Given the description of an element on the screen output the (x, y) to click on. 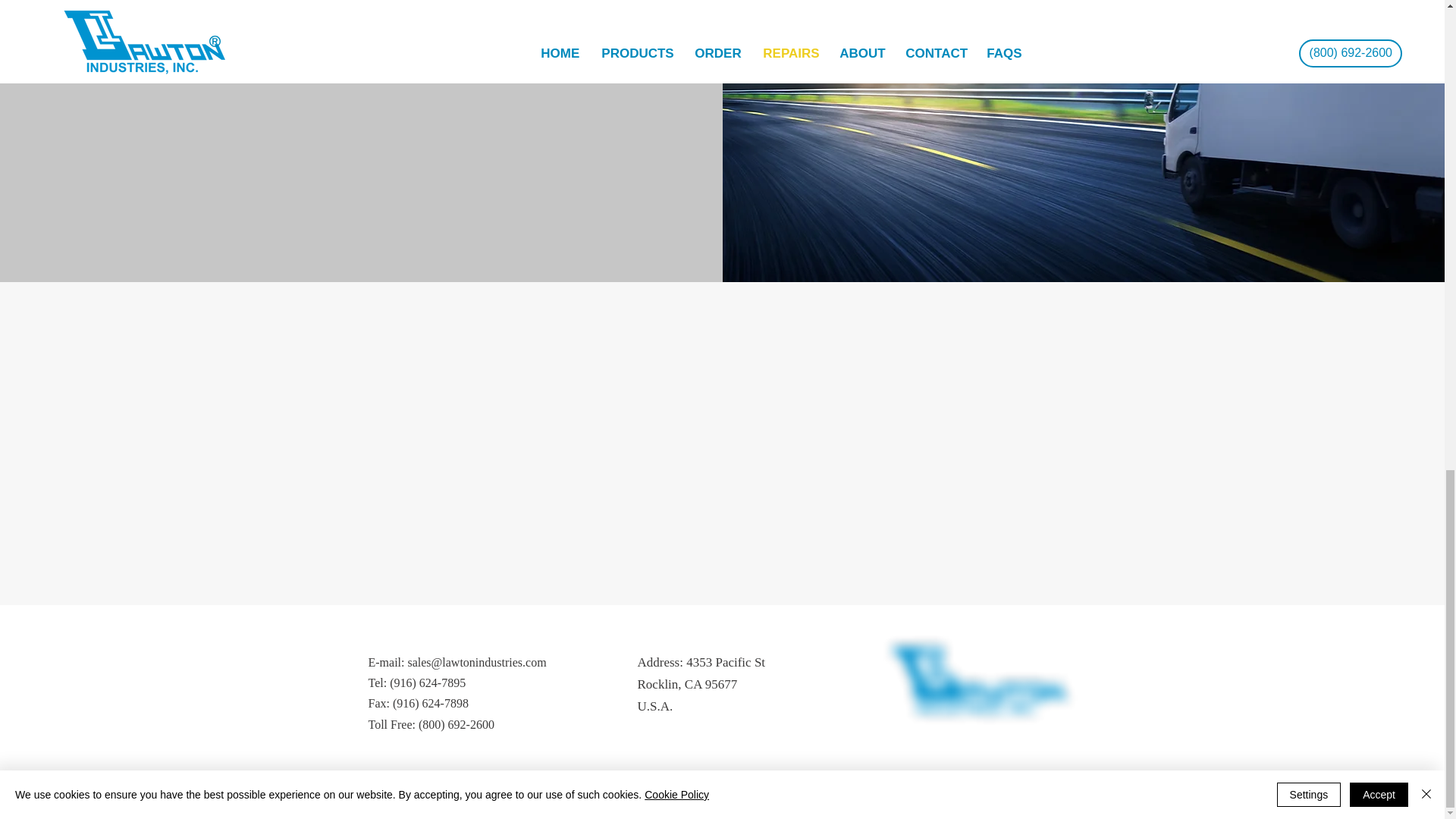
Industrial Business Website Design (717, 804)
ADA Statement (1005, 804)
